Given the description of an element on the screen output the (x, y) to click on. 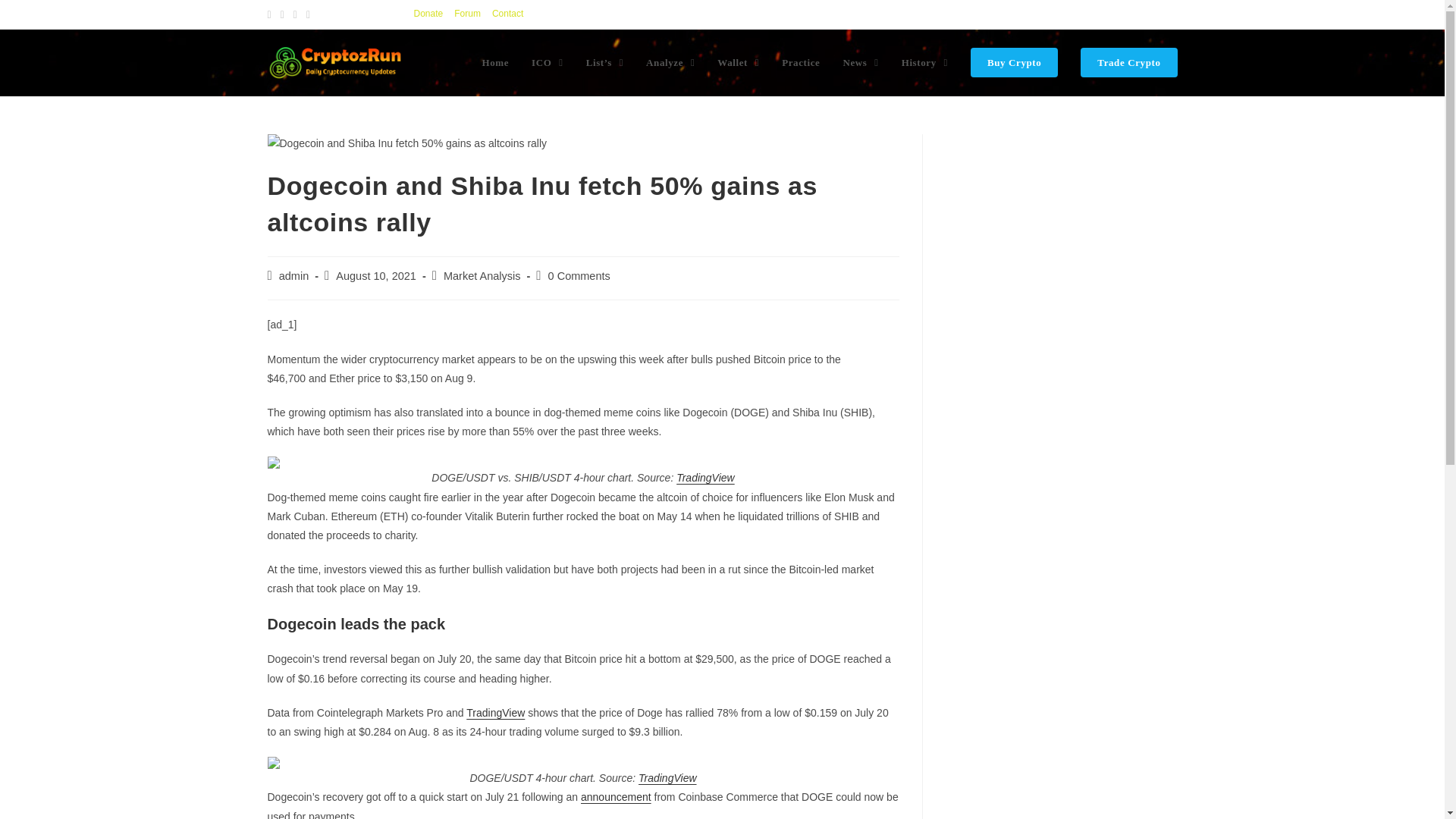
Contact (507, 13)
Practice (800, 62)
Forum (467, 13)
ICO (547, 62)
Trade Crypto (1128, 62)
History (924, 62)
Analyze (670, 62)
Posts by admin (293, 275)
Buy Crypto (1013, 62)
Donate (428, 13)
Home (494, 62)
Wallet (738, 62)
News (860, 62)
